Given the description of an element on the screen output the (x, y) to click on. 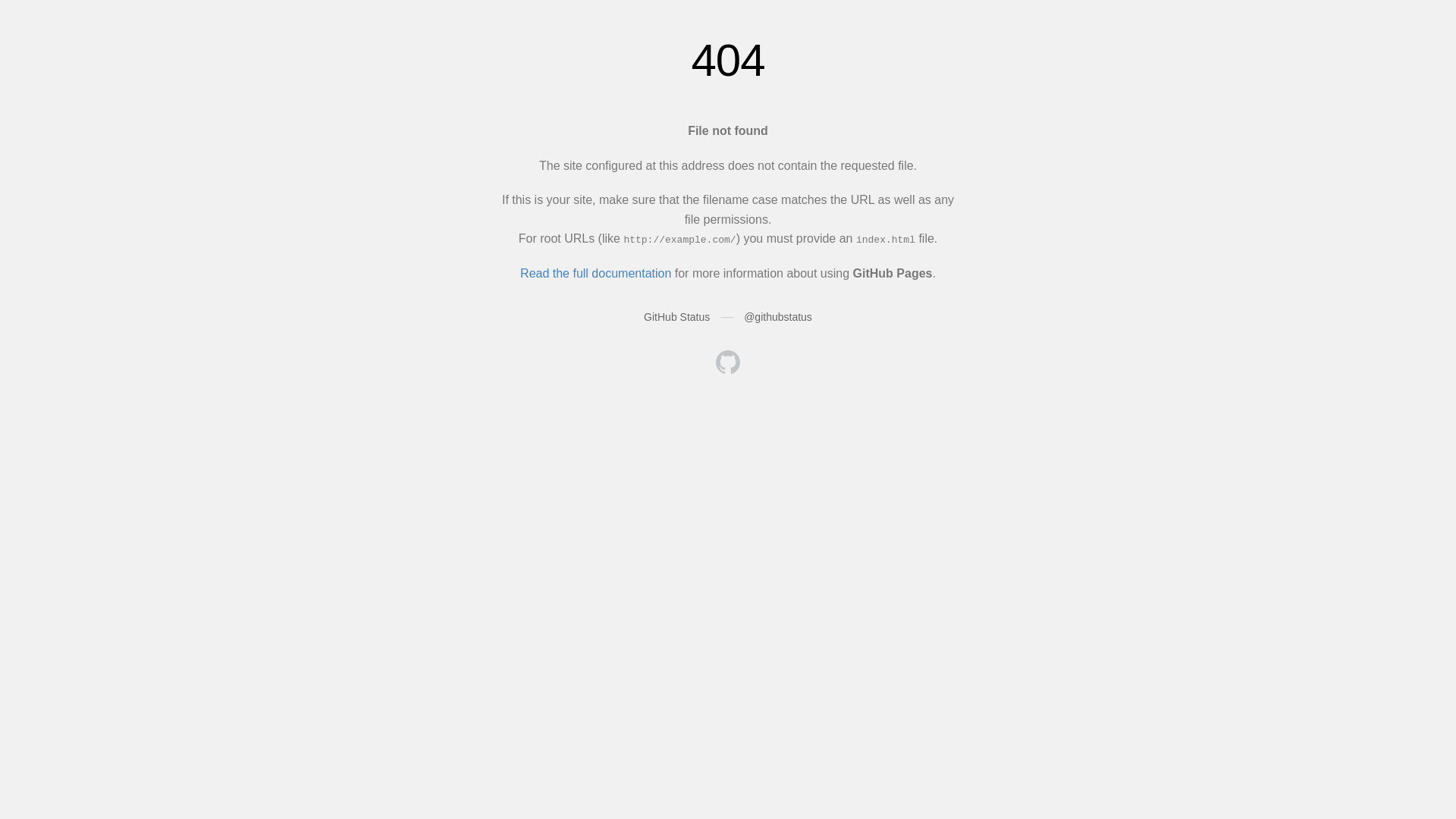
@githubstatus Element type: text (777, 316)
GitHub Status Element type: text (676, 316)
Read the full documentation Element type: text (595, 272)
